Given the description of an element on the screen output the (x, y) to click on. 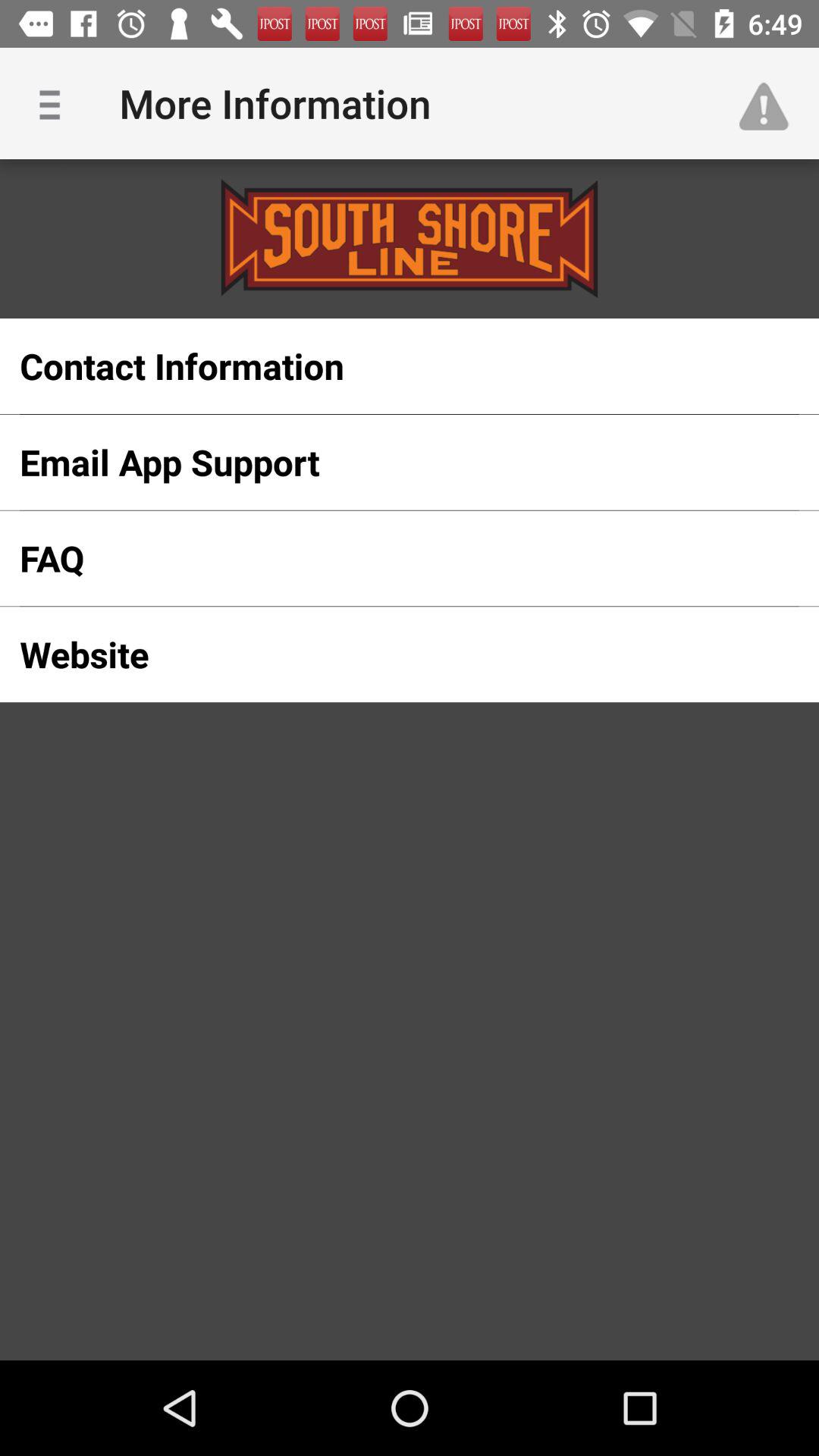
turn on the item to the right of more information (771, 103)
